Given the description of an element on the screen output the (x, y) to click on. 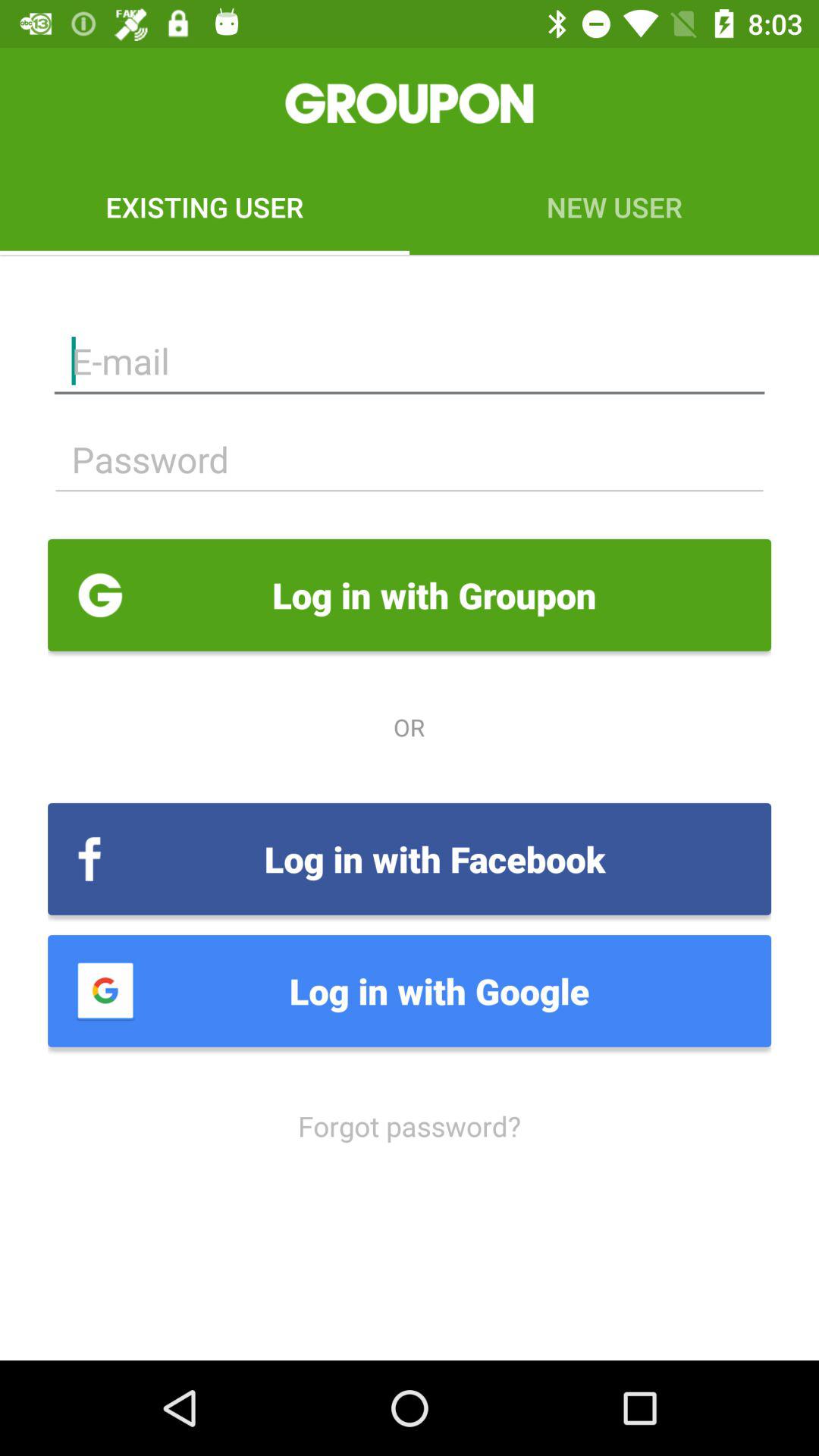
enter email address (409, 361)
